Given the description of an element on the screen output the (x, y) to click on. 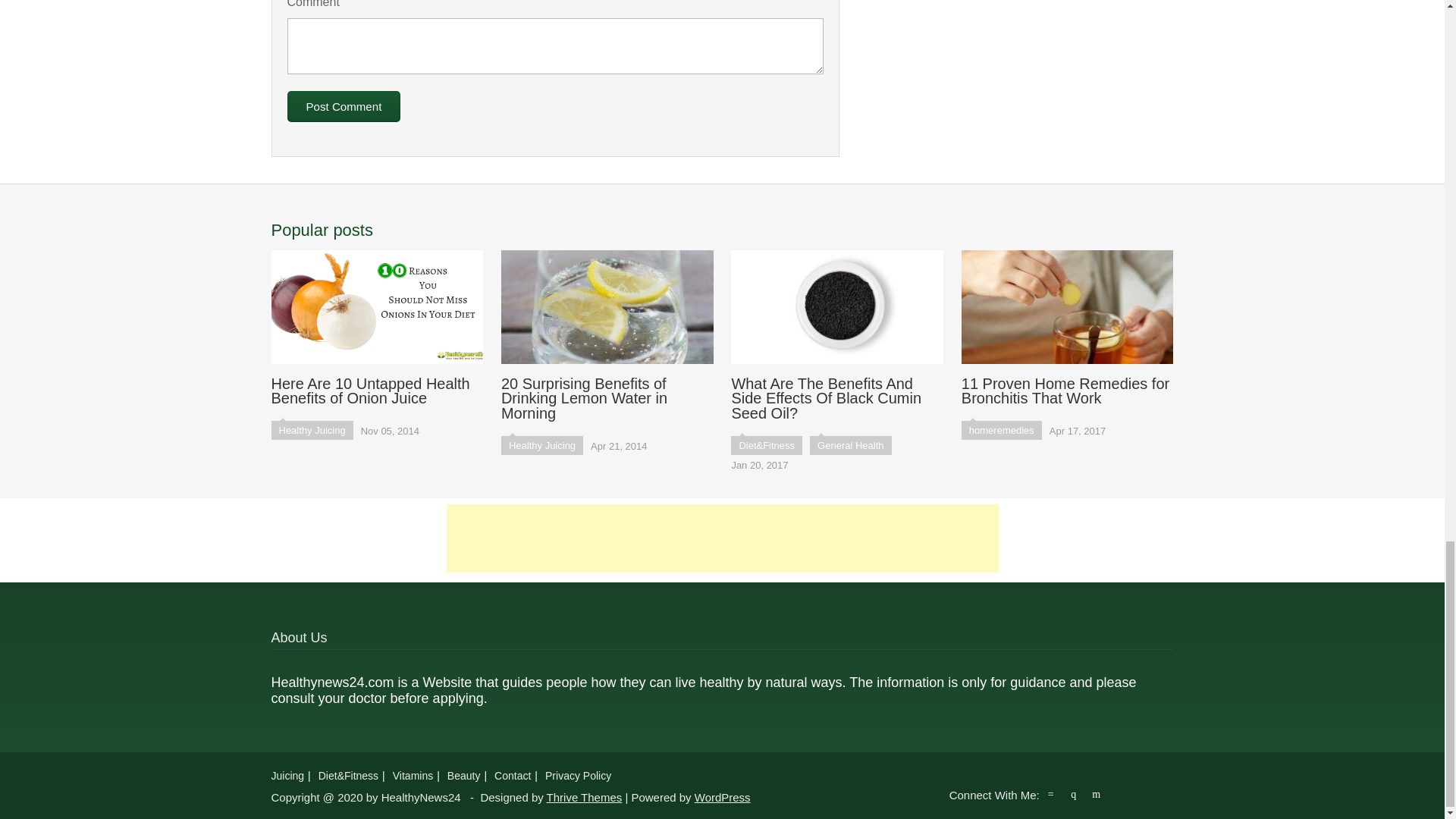
Here Are 10 Untapped Health Benefits of Onion Juice (376, 328)
Healthy Juicing (311, 429)
Post Comment (343, 106)
Healthy Juicing (541, 445)
Post Comment (343, 106)
Advertisement (721, 538)
20 Surprising Benefits of Drinking Lemon Water in Morning (606, 335)
